Given the description of an element on the screen output the (x, y) to click on. 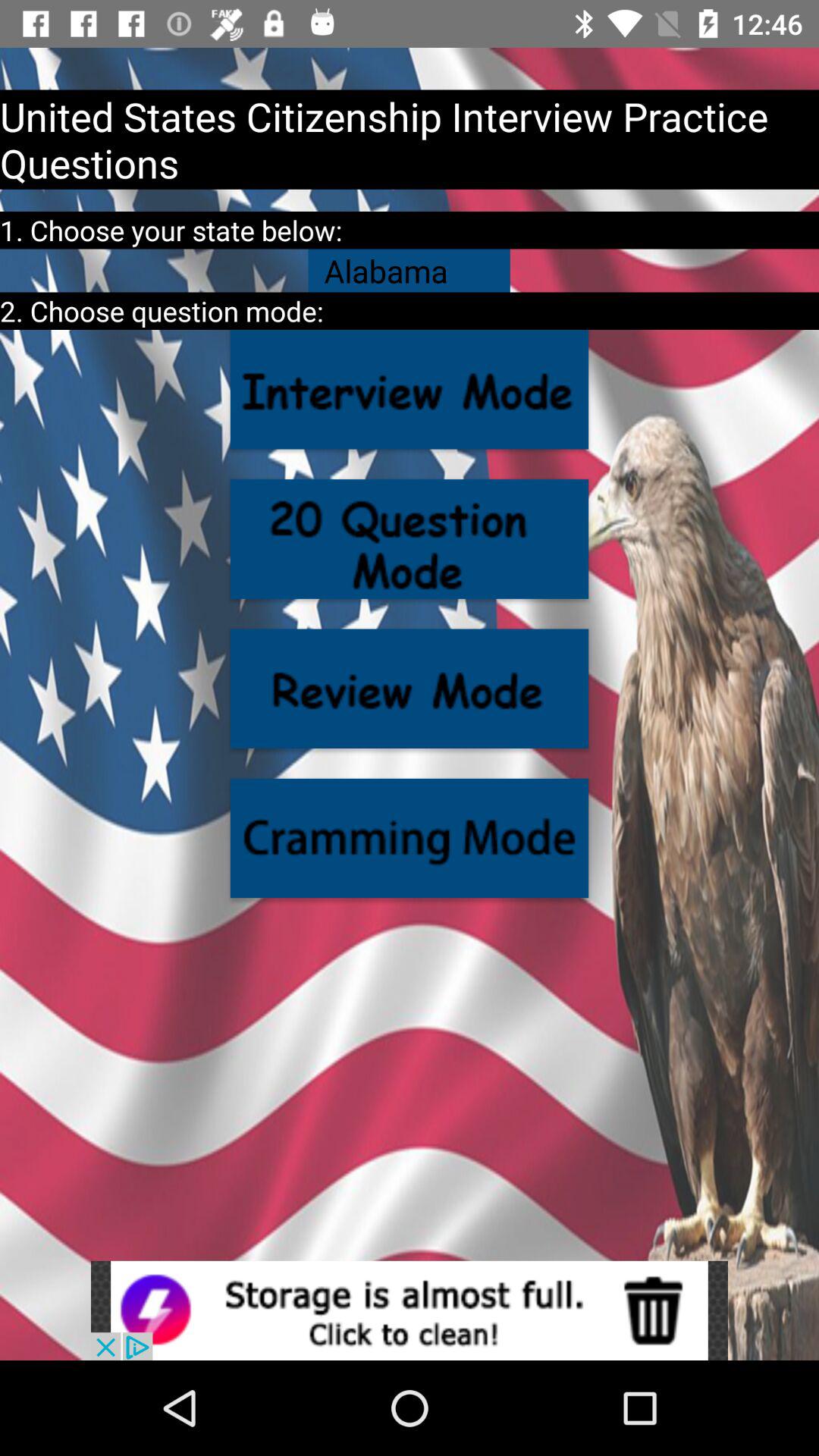
choose interview mode (409, 389)
